Given the description of an element on the screen output the (x, y) to click on. 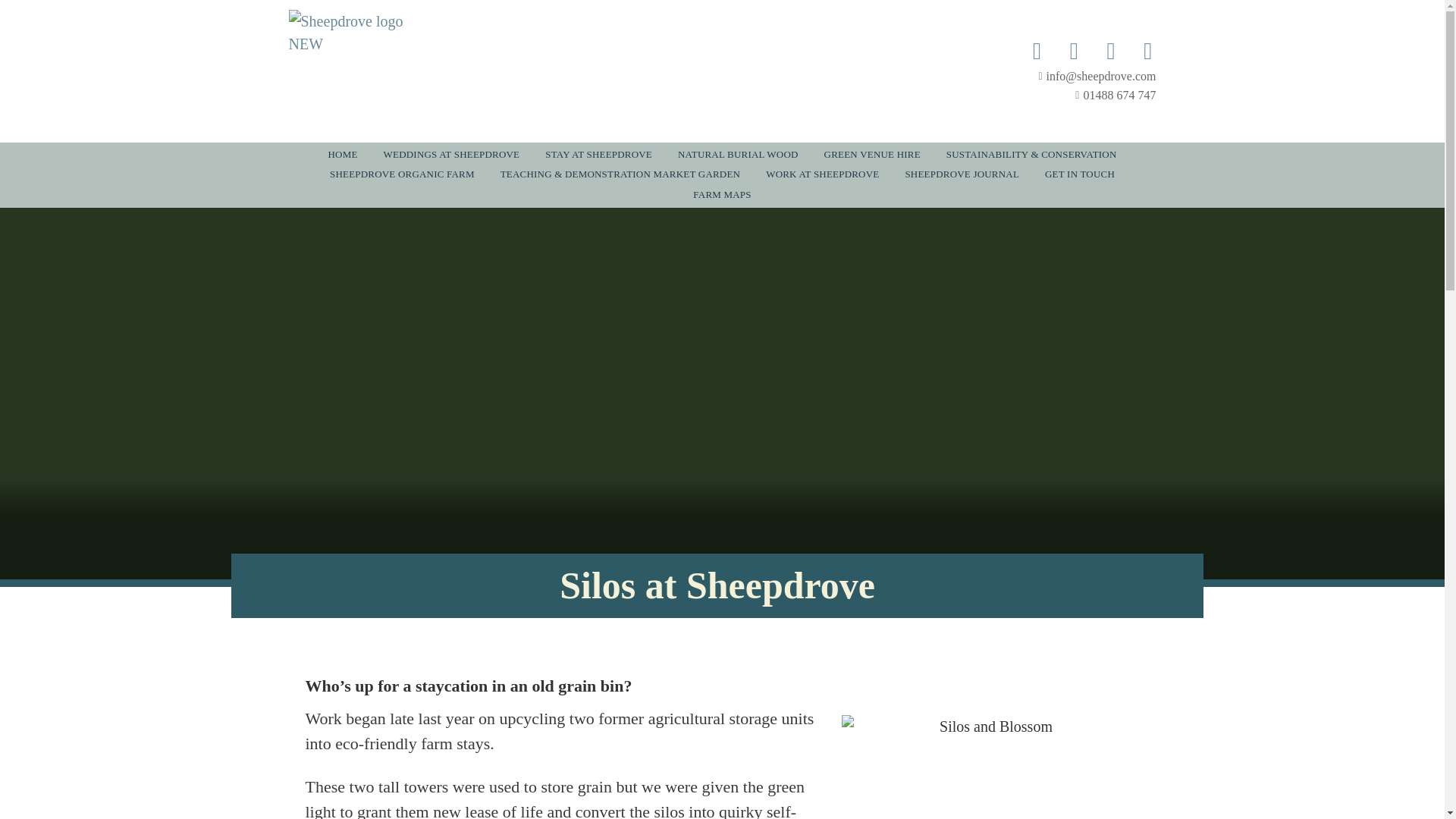
01488 674 747 (1066, 95)
SHEEPDROVE JOURNAL (961, 174)
SHEEPDROVE ORGANIC FARM (402, 174)
WEDDINGS AT SHEEPDROVE (451, 154)
HOME (341, 154)
GET IN TOUCH (1079, 174)
STAY AT SHEEPDROVE (598, 154)
FARM MAPS (720, 195)
NATURAL BURIAL WOOD (737, 154)
WORK AT SHEEPDROVE (821, 174)
GREEN VENUE HIRE (871, 154)
